Given the description of an element on the screen output the (x, y) to click on. 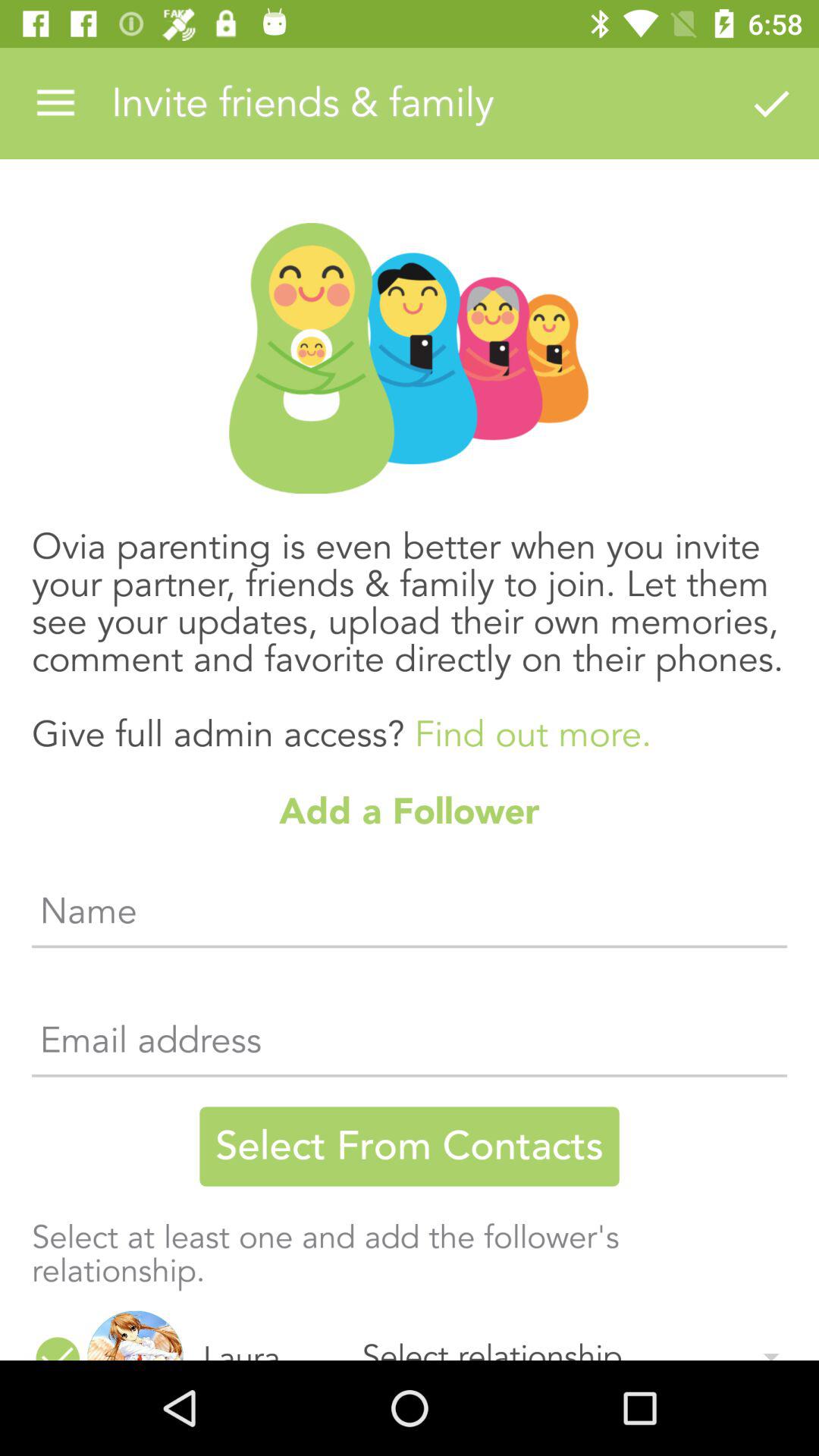
launch icon above select at least icon (409, 1146)
